Given the description of an element on the screen output the (x, y) to click on. 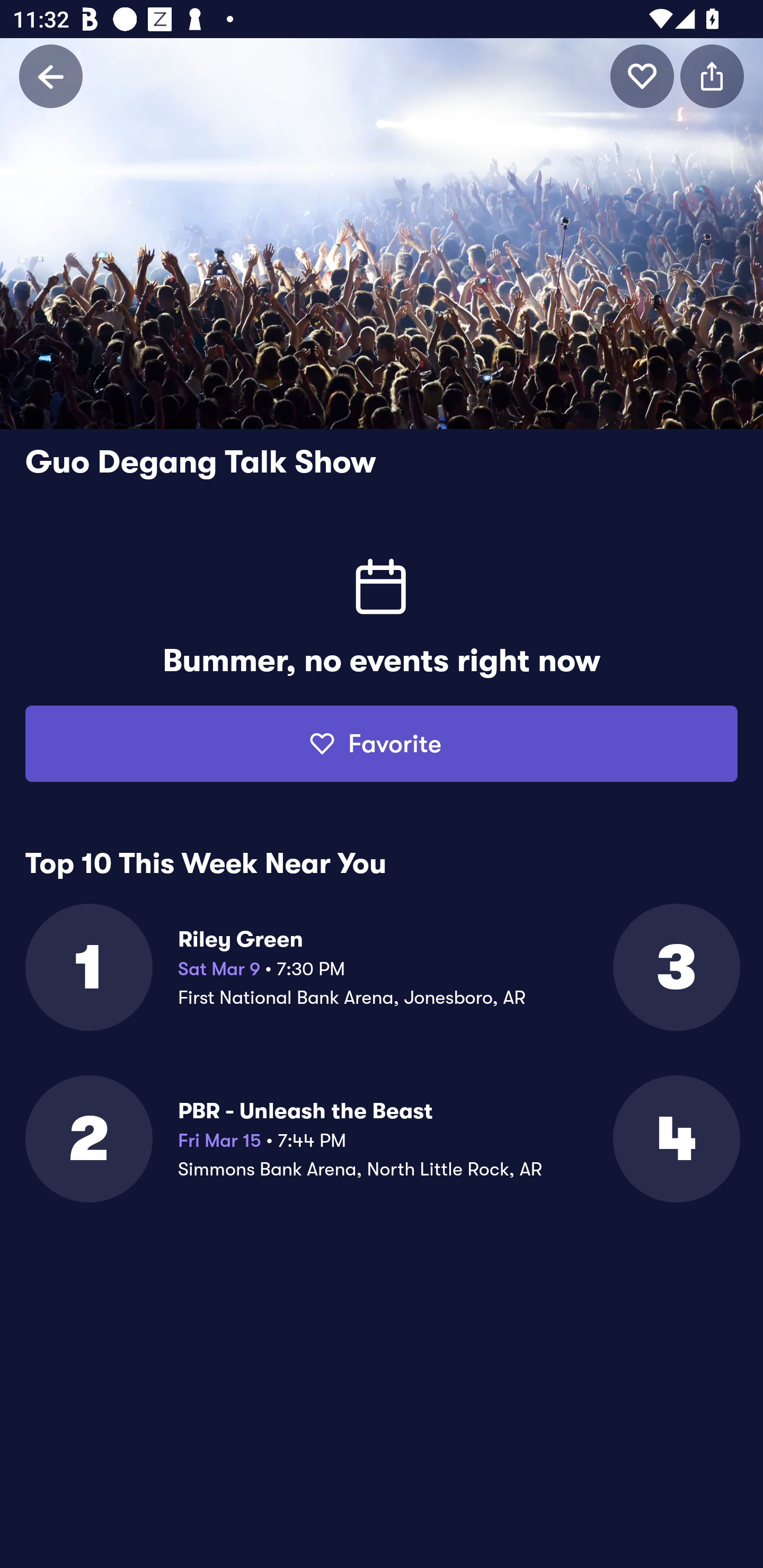
Back (50, 75)
icon button (641, 75)
icon button (711, 75)
Favorite (381, 743)
3 (675, 967)
4 (675, 1138)
